Given the description of an element on the screen output the (x, y) to click on. 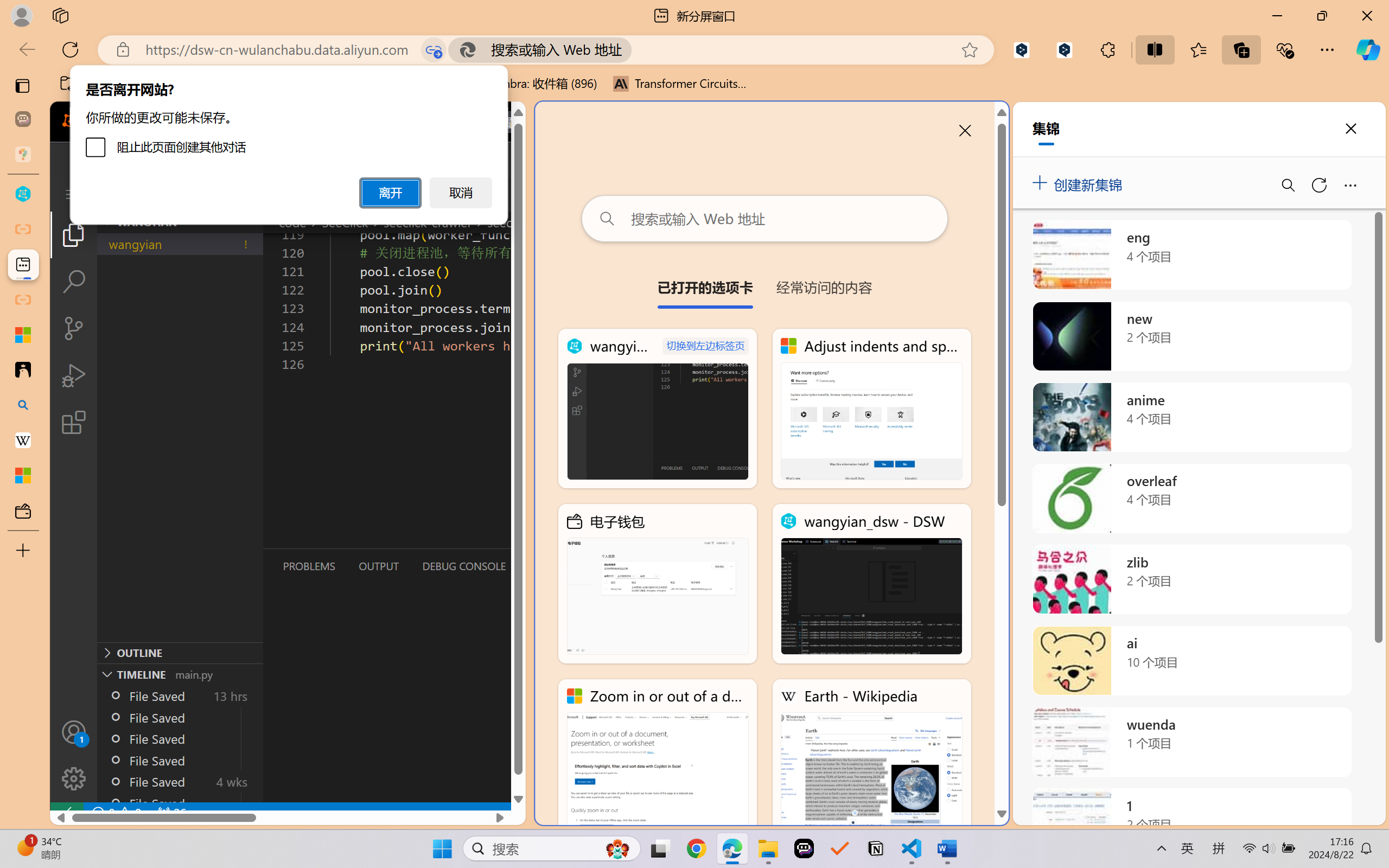
Timeline Section (179, 673)
wangyian_dsw - DSW (871, 583)
Outline Section (179, 652)
